Given the description of an element on the screen output the (x, y) to click on. 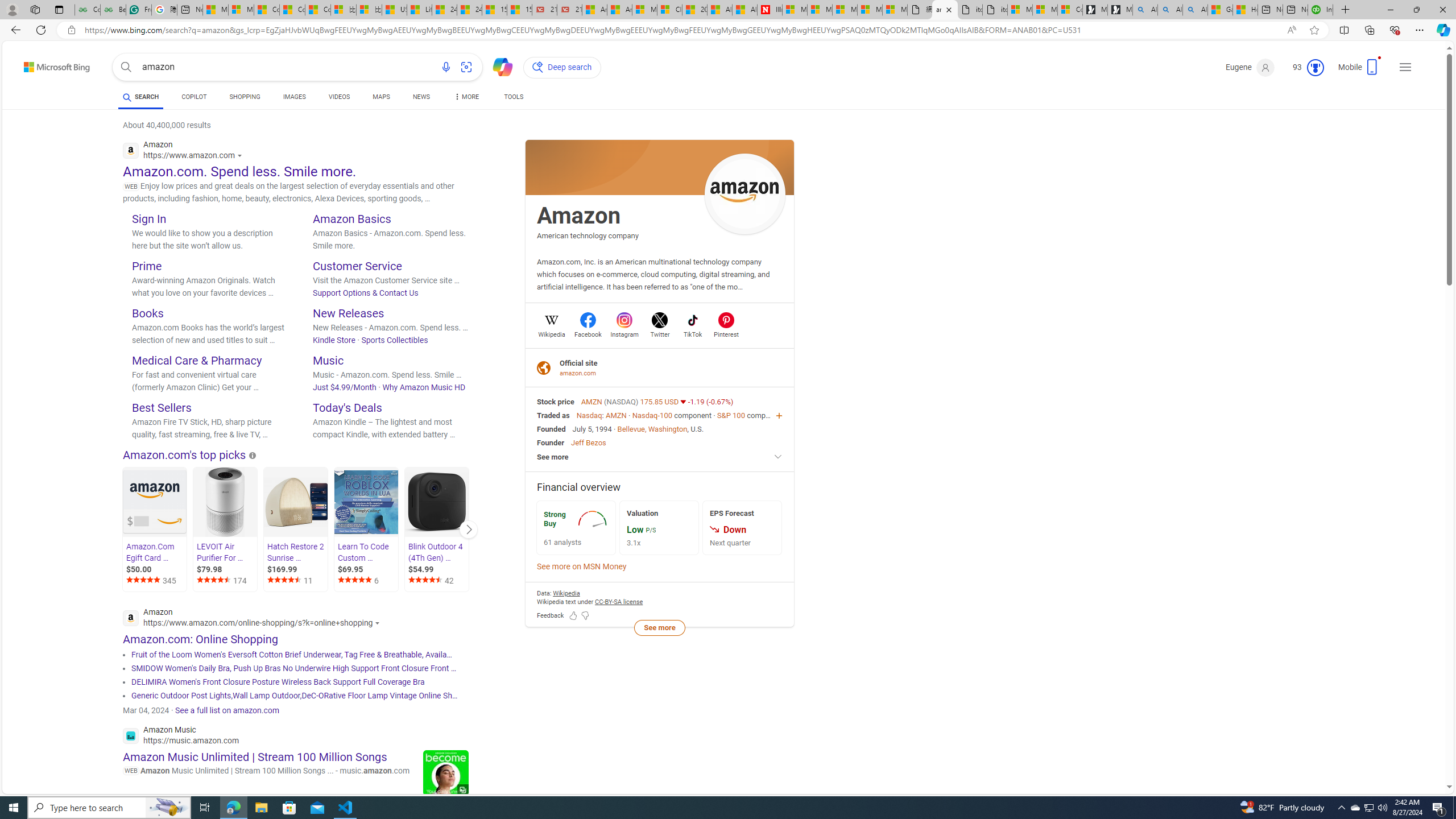
Bellevue, Washington (652, 429)
Nasdaq (589, 415)
Founded (551, 429)
Feedback Dislike (584, 614)
Amazon (579, 215)
15 Ways Modern Life Contradicts the Teachings of Jesus (519, 9)
Amazon Basics (352, 218)
Why Amazon Music HD (423, 387)
Consumer Health Data Privacy Policy (1069, 9)
11 (296, 580)
See more images of Amazon (745, 193)
